Given the description of an element on the screen output the (x, y) to click on. 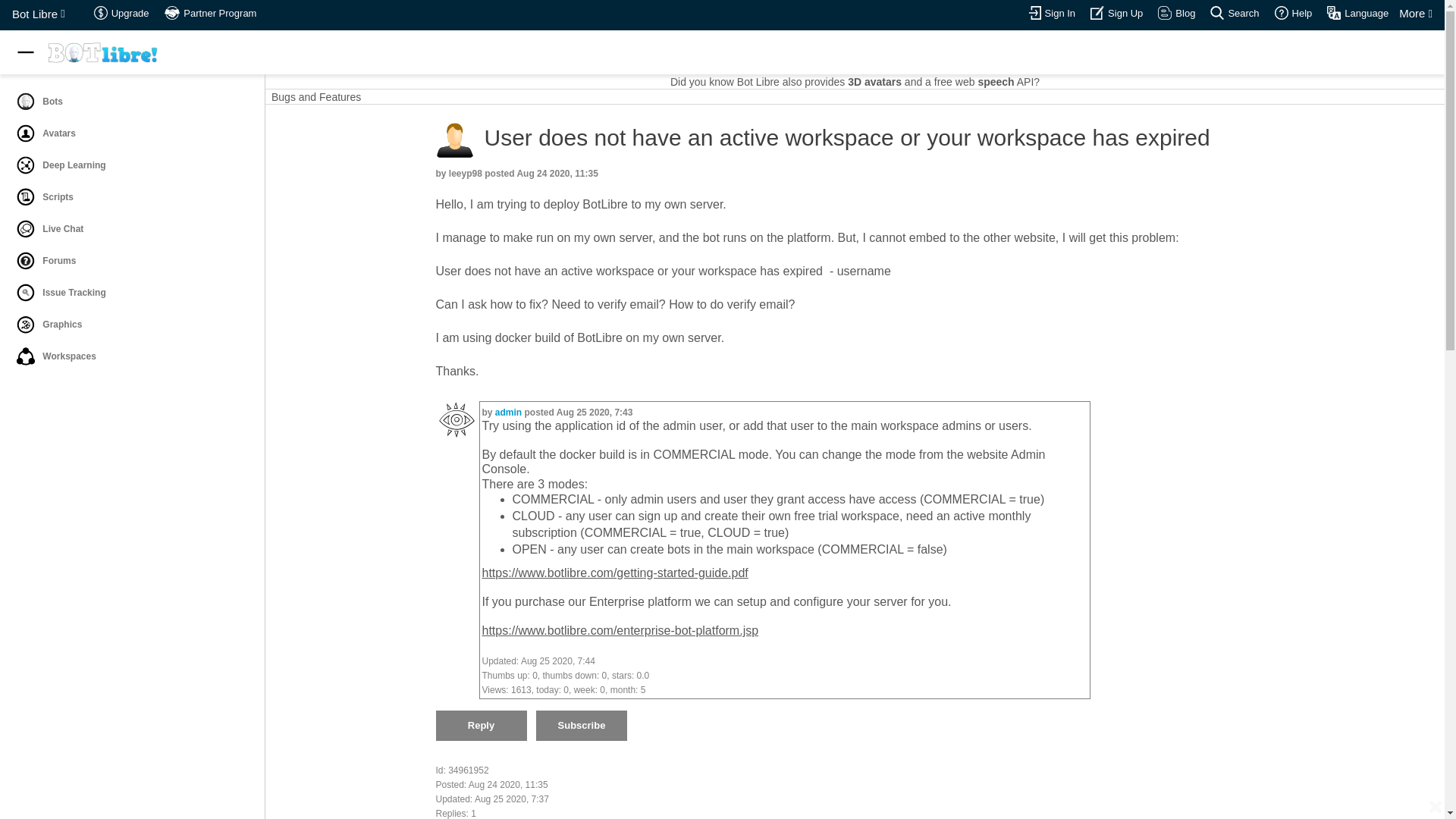
Language (1357, 13)
Workspaces (25, 356)
Forums (130, 260)
Help (1294, 13)
Reply (480, 725)
Deep Learning (25, 165)
Bot Libre (38, 14)
Partner Program (210, 13)
Avatars (25, 133)
Blog (1176, 13)
Sign Up (1096, 12)
Live Chat (130, 228)
Issue Tracking (130, 292)
Bots (130, 101)
Issue Tracking (25, 292)
